Given the description of an element on the screen output the (x, y) to click on. 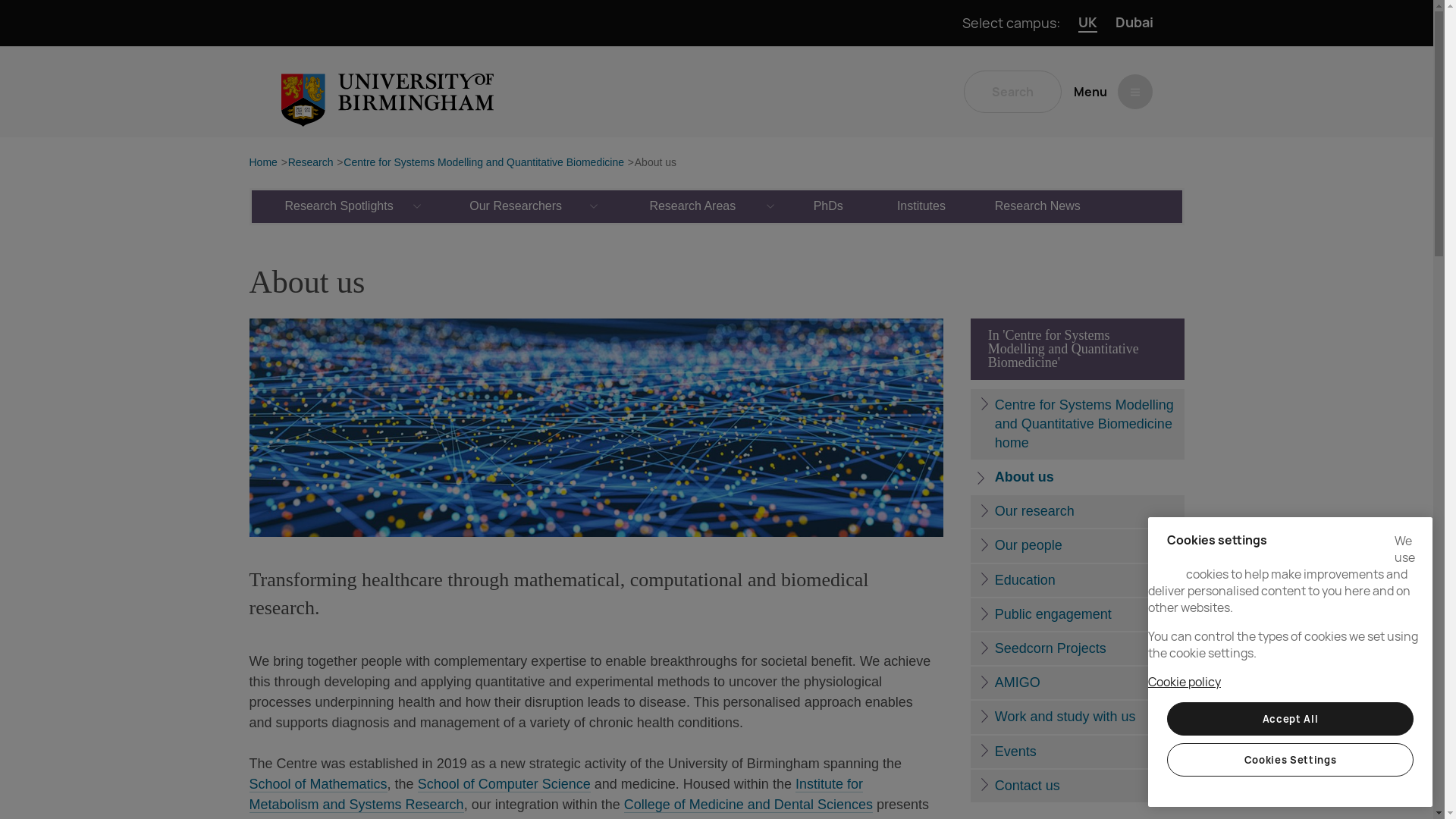
Search (1012, 91)
Dubai (1134, 23)
Our Researchers (516, 205)
Research (310, 163)
Research Areas (693, 205)
Centre for Systems Modelling and Quantitative Biomedicine (483, 163)
Home (262, 163)
UK (1087, 23)
About us (655, 163)
Research Spotlights (339, 205)
